Given the description of an element on the screen output the (x, y) to click on. 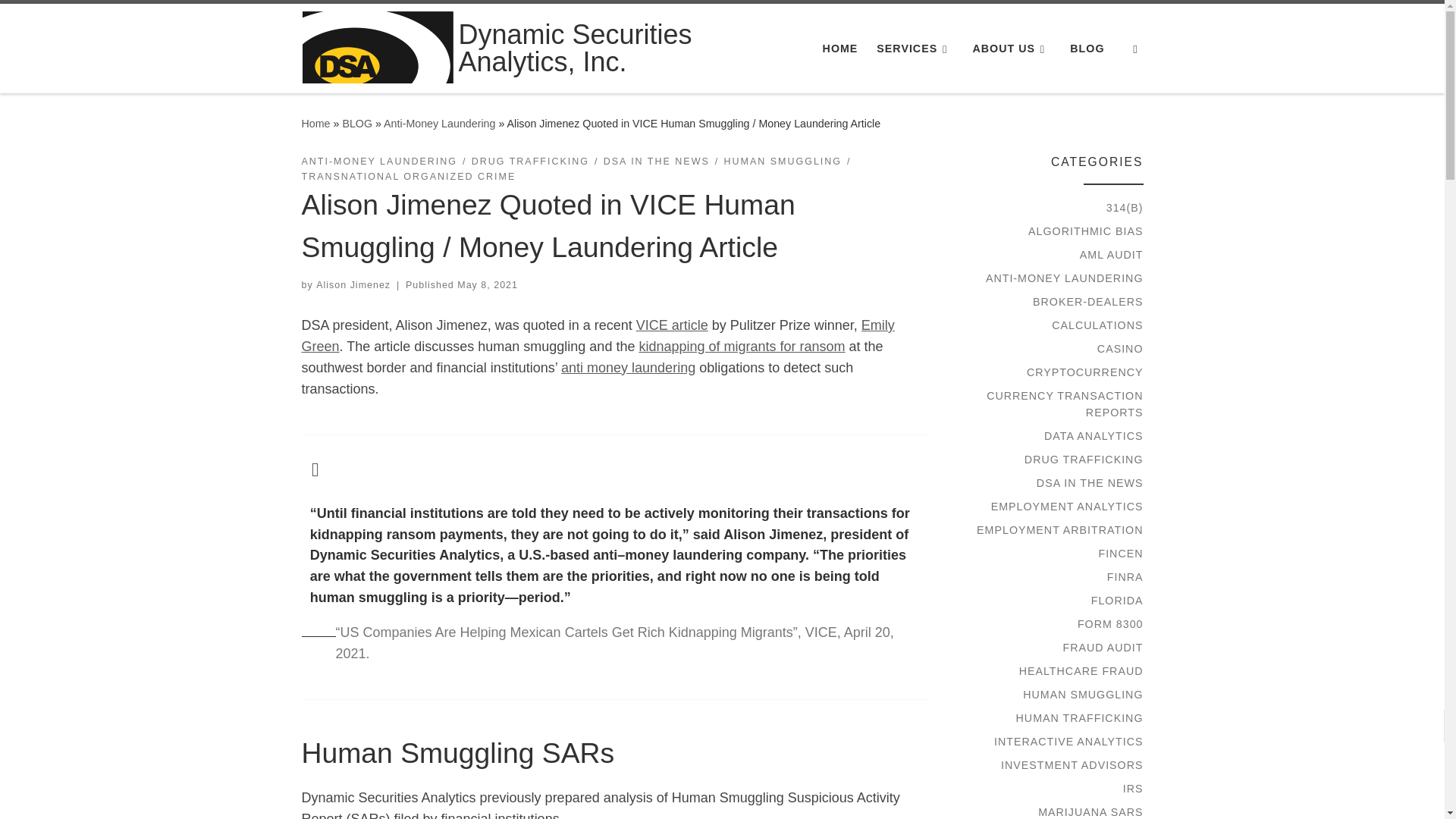
View all posts in Transnational Organized Crime (408, 176)
View all posts in Anti-Money Laundering (379, 161)
DRUG TRAFFICKING (530, 161)
View all posts in Drug Trafficking (530, 161)
BLOG (1087, 48)
Skip to content (60, 20)
DSA IN THE NEWS (657, 161)
Home (315, 123)
Anti-Money Laundering (439, 123)
HOME (838, 48)
